Given the description of an element on the screen output the (x, y) to click on. 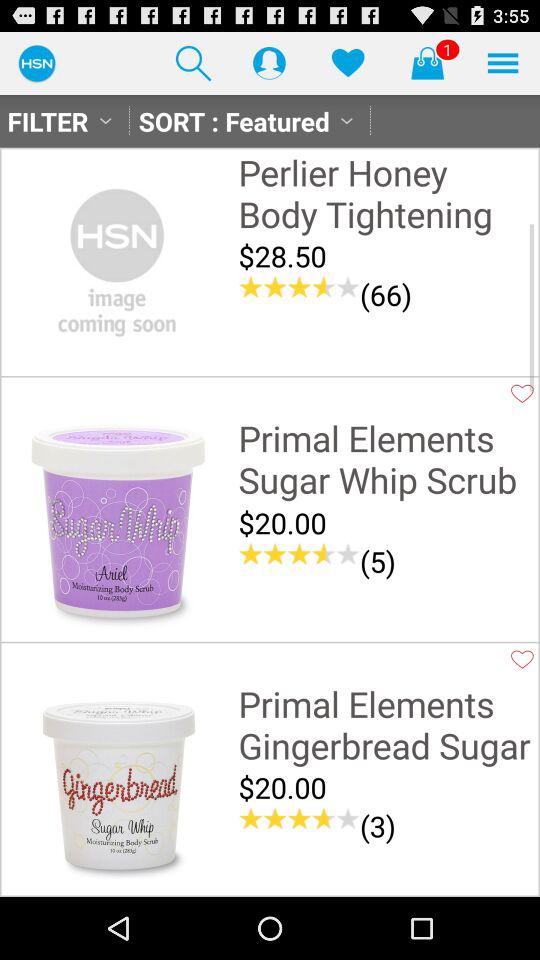
turn on icon at the center (299, 553)
